Given the description of an element on the screen output the (x, y) to click on. 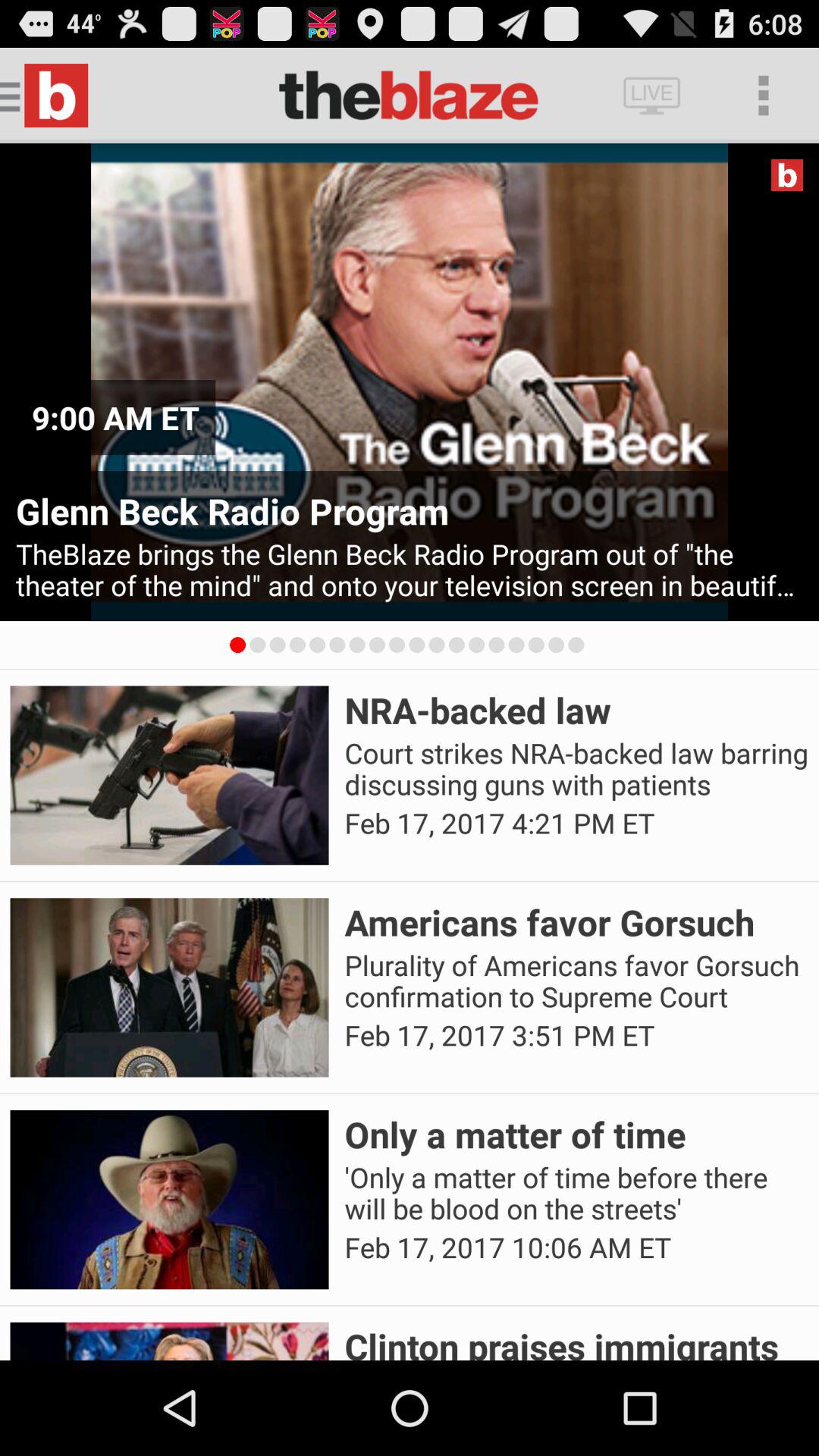
turn off the item below americans favor gorsuch (576, 981)
